Given the description of an element on the screen output the (x, y) to click on. 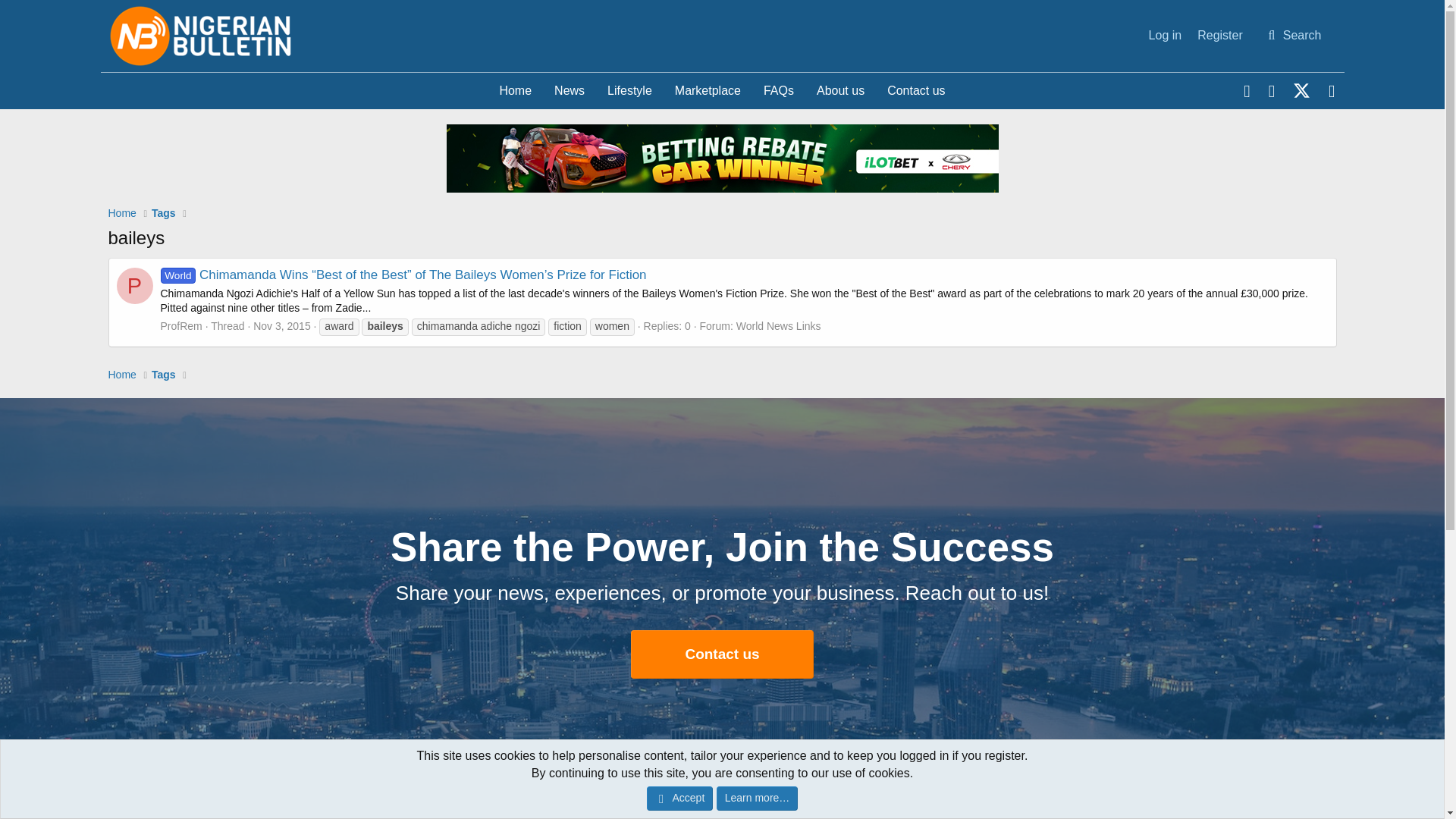
Home (515, 90)
Nov 3, 2015 at 11:30 AM (282, 326)
Lifestyle (629, 90)
About us (840, 90)
Tags (721, 90)
Marketplace (163, 374)
Home (707, 90)
News (121, 374)
Tags (569, 90)
Log in (163, 213)
FAQs (1165, 35)
Contact us (721, 90)
ProfRem (778, 90)
